Given the description of an element on the screen output the (x, y) to click on. 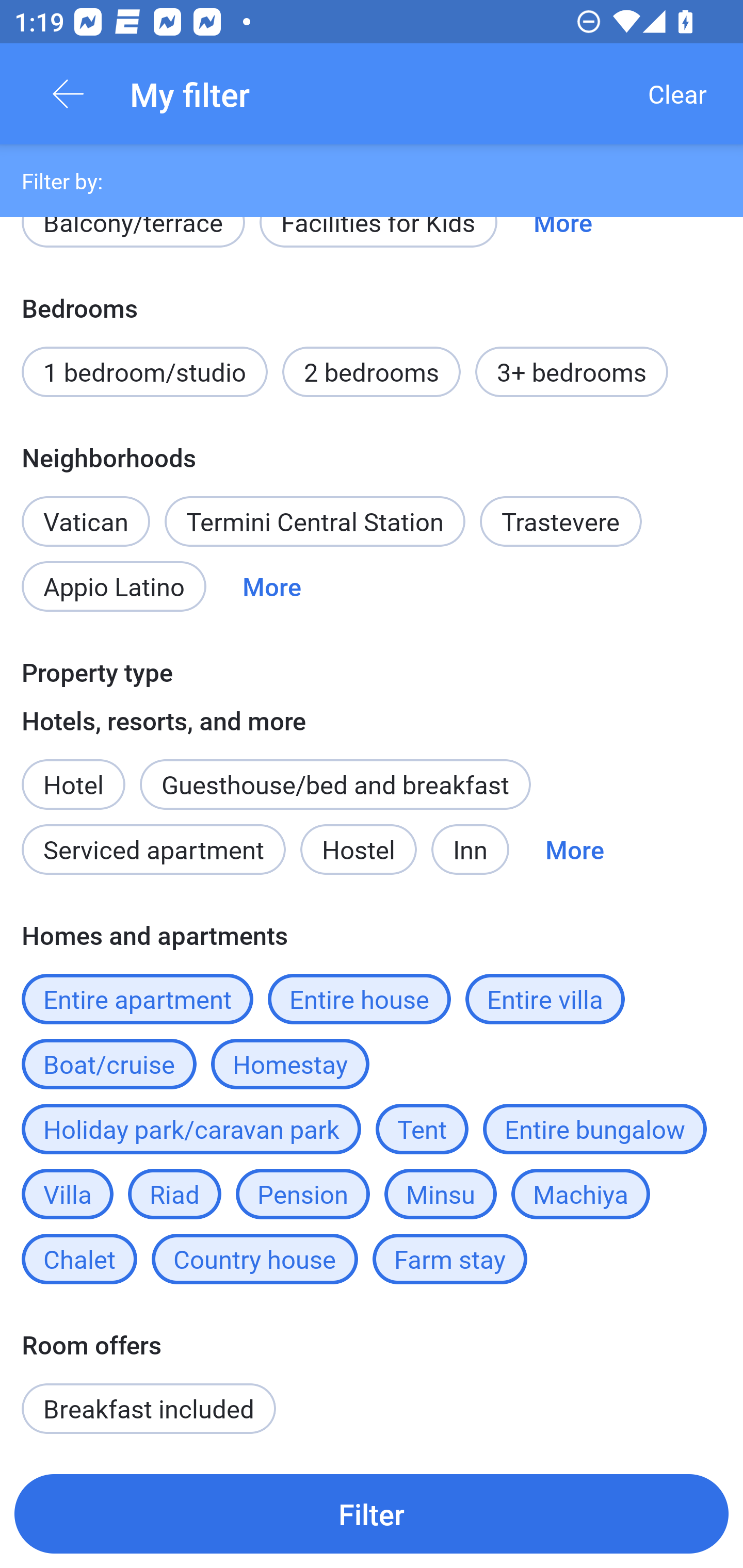
Clear (676, 93)
1 bedroom/studio (144, 372)
2 bedrooms (371, 372)
3+ bedrooms (571, 372)
Vatican (85, 510)
Termini Central Station (314, 521)
Trastevere (560, 521)
Appio Latino (113, 586)
More (271, 586)
Hotel (73, 773)
Guesthouse/bed and breakfast (335, 784)
Serviced apartment (153, 848)
Hostel (358, 848)
Inn (470, 848)
More (574, 848)
Breakfast included (148, 1408)
Filter (371, 1513)
